Given the description of an element on the screen output the (x, y) to click on. 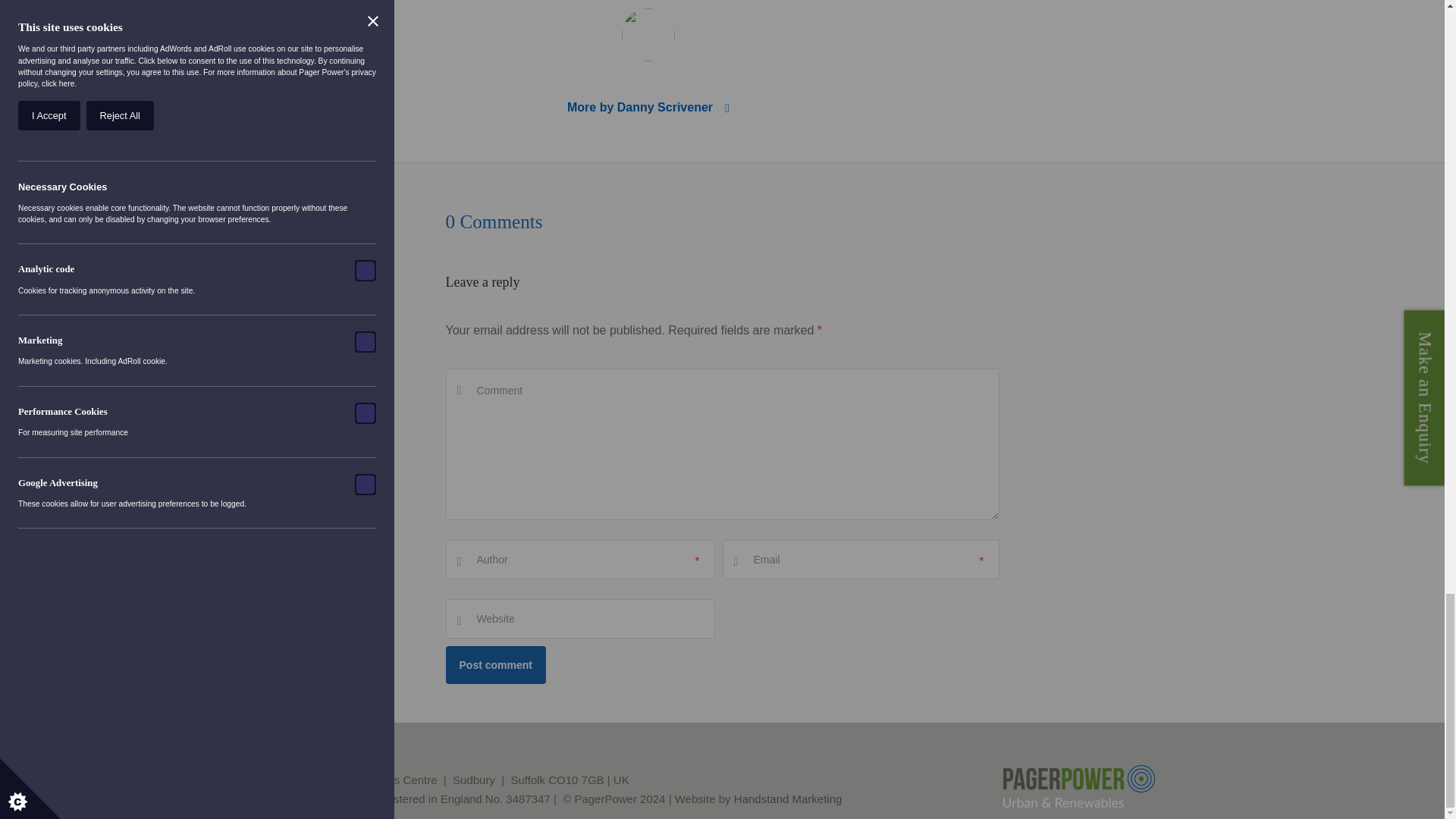
Post comment (495, 664)
